Given the description of an element on the screen output the (x, y) to click on. 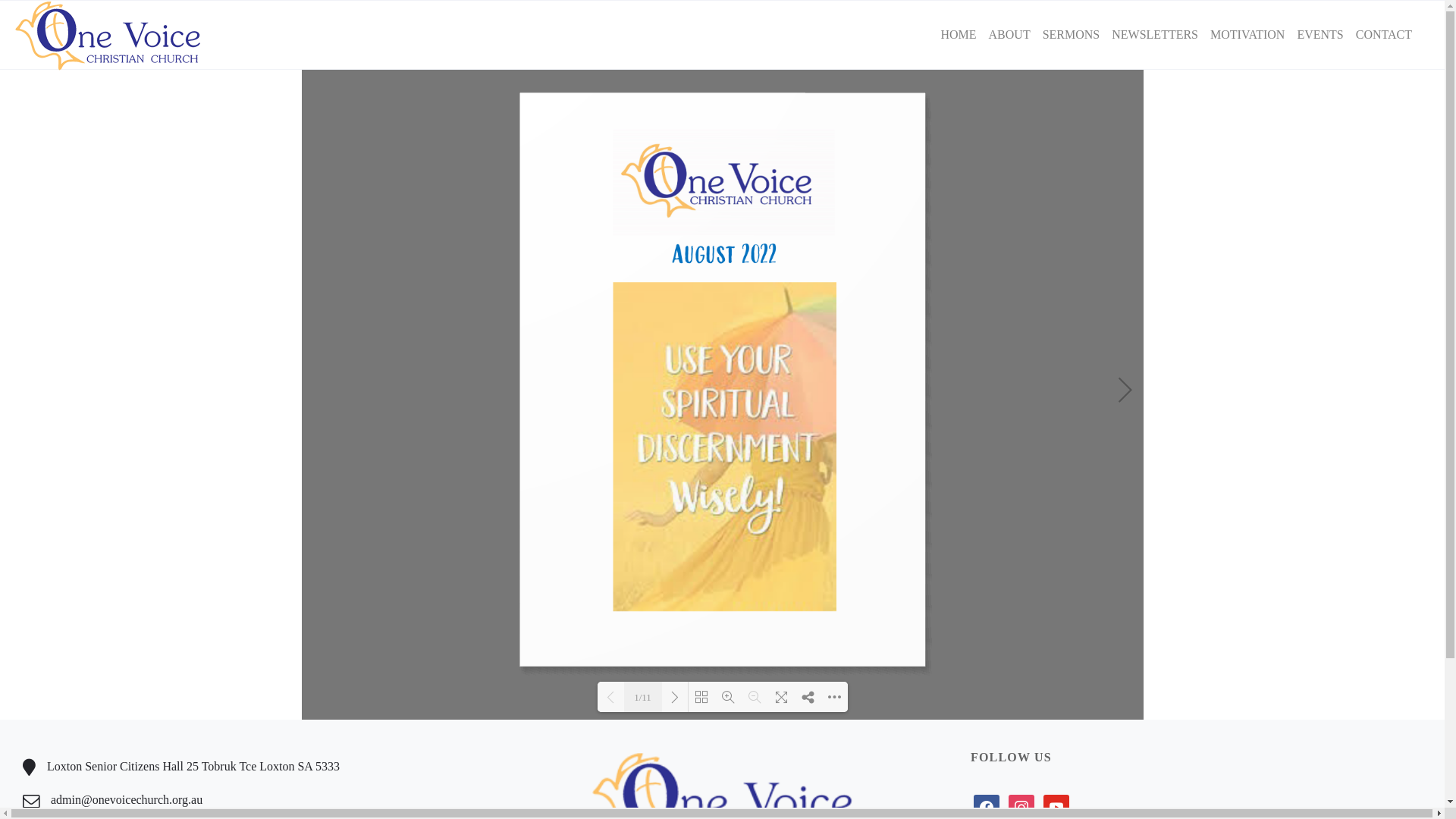
Next Page Element type: hover (1122, 391)
Zoom In Element type: hover (727, 696)
Previous Page Element type: hover (610, 696)
instagram Element type: text (1021, 806)
Share Element type: hover (807, 696)
Skip to content Element type: text (1444, 0)
HOME Element type: text (958, 34)
ABOUT Element type: text (1009, 34)
EVENTS Element type: text (1319, 34)
Next Page Element type: hover (674, 696)
Toggle Thumbnails Element type: hover (701, 696)
Toggle Fullscreen Element type: hover (780, 696)
One Voice Element type: hover (107, 34)
facebook Element type: text (986, 806)
Zoom Out Element type: hover (754, 696)
SERMONS Element type: text (1071, 34)
MOTIVATION Element type: text (1247, 34)
CONTACT Element type: text (1383, 34)
youtube Element type: text (1056, 806)
NEWSLETTERS Element type: text (1154, 34)
